Given the description of an element on the screen output the (x, y) to click on. 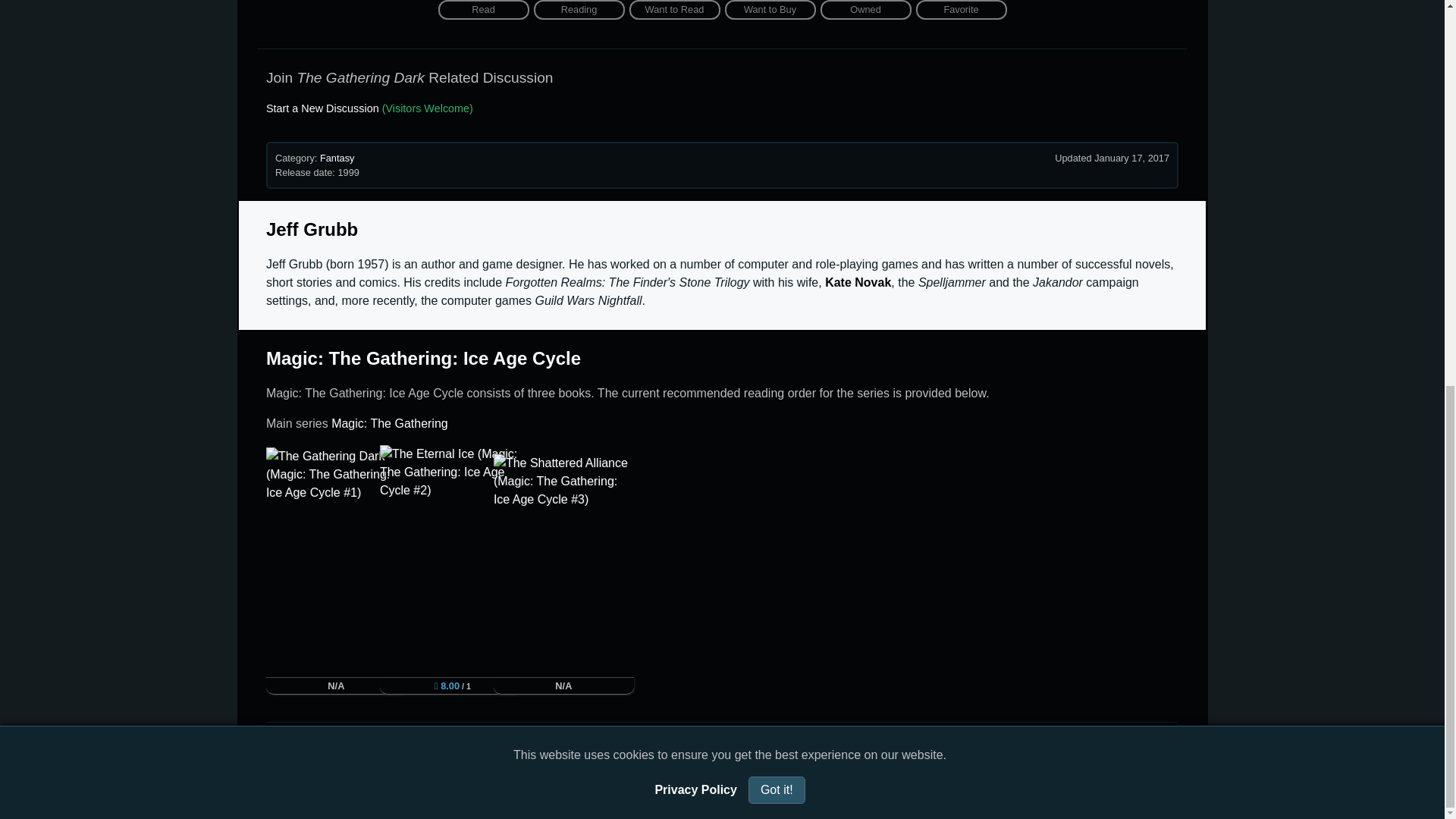
Read (483, 9)
1957-08-27 (371, 264)
Reading (579, 9)
Want to Read (674, 9)
Read (483, 9)
Reading (579, 9)
Owned (866, 9)
Owned (866, 9)
Want to Read (674, 9)
Want to Buy (770, 9)
Want to Buy (770, 9)
